Given the description of an element on the screen output the (x, y) to click on. 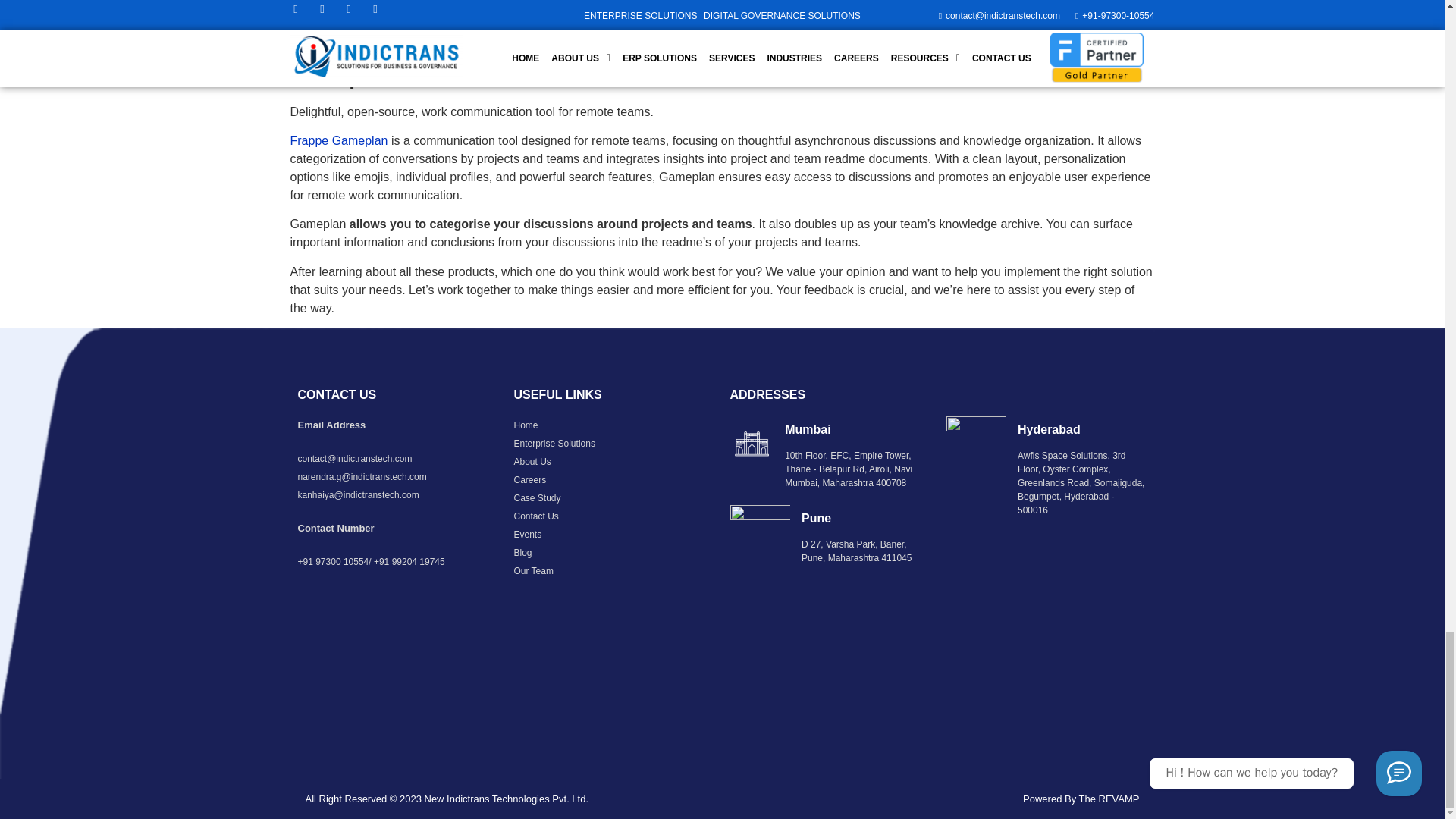
Frappe Gameplan (338, 140)
